Given the description of an element on the screen output the (x, y) to click on. 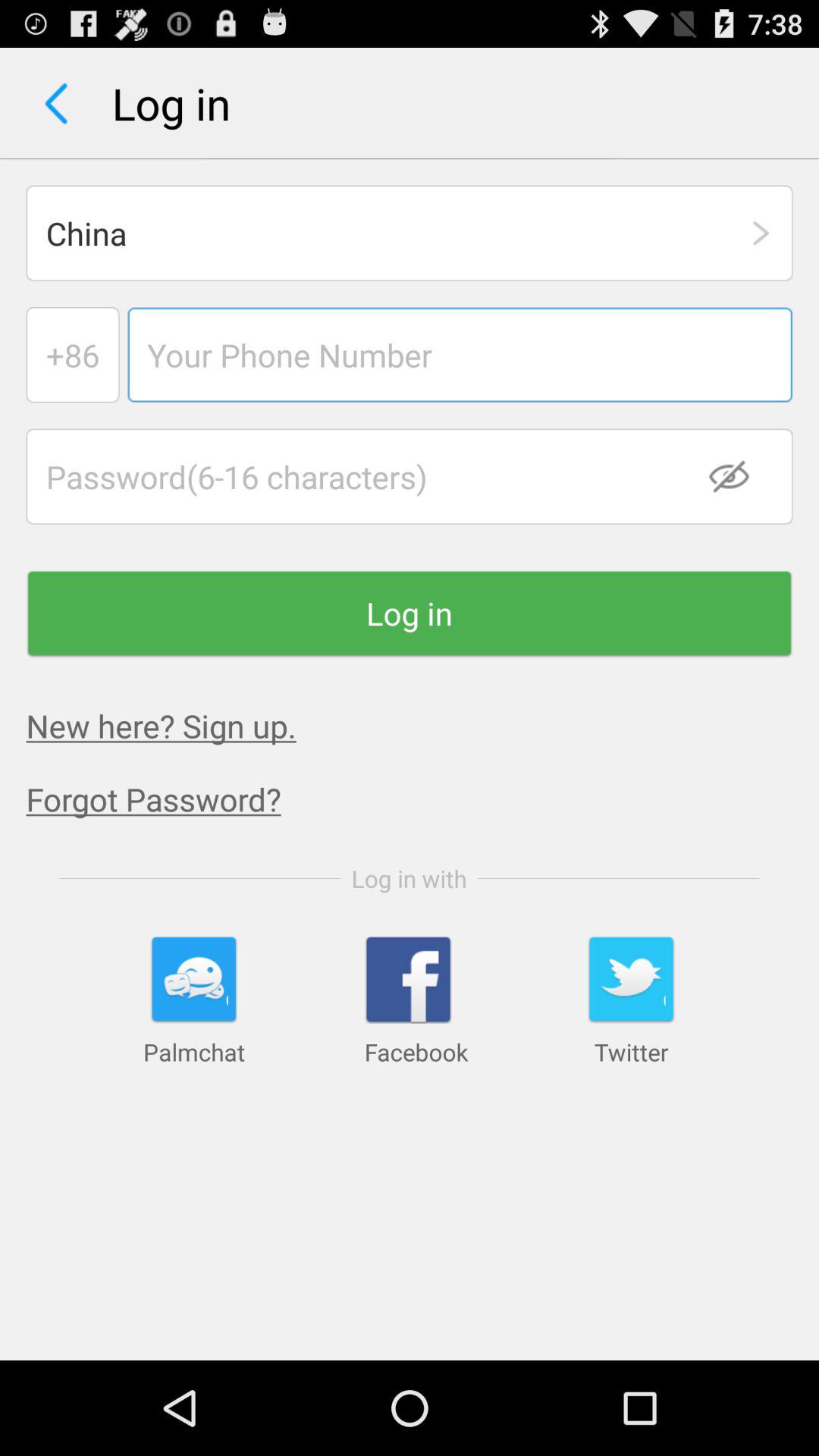
choose the new here sign (161, 725)
